Given the description of an element on the screen output the (x, y) to click on. 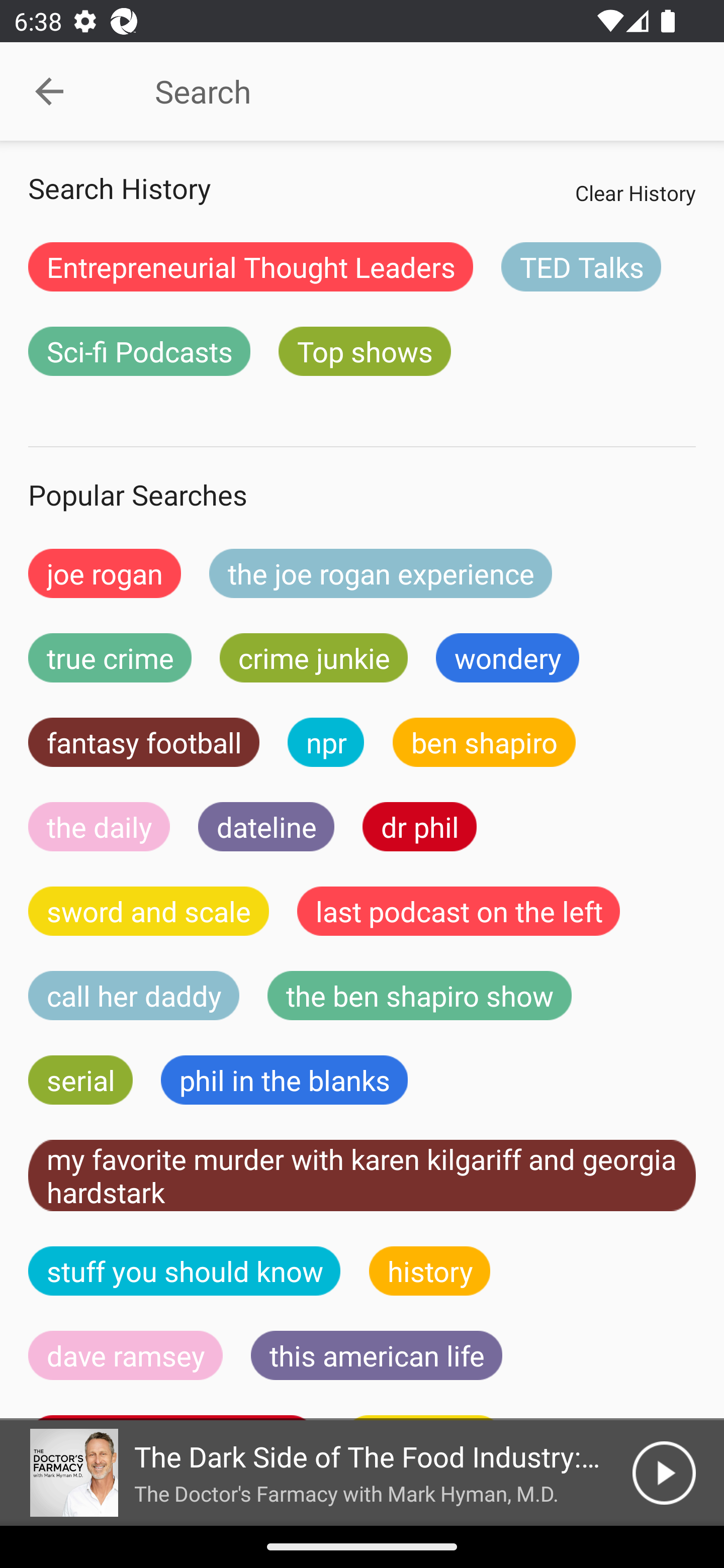
Collapse (49, 91)
Search (407, 91)
Clear History (634, 192)
Entrepreneurial Thought Leaders (250, 266)
TED Talks (581, 266)
Sci-fi Podcasts (139, 351)
Top shows (364, 351)
joe rogan (104, 572)
the joe rogan experience (380, 572)
true crime (109, 657)
crime junkie (313, 657)
wondery (507, 657)
fantasy football (143, 742)
npr (325, 742)
ben shapiro (483, 742)
the daily (99, 826)
dateline (266, 826)
dr phil (419, 826)
sword and scale (148, 910)
last podcast on the left (458, 910)
call her daddy (133, 995)
the ben shapiro show (419, 995)
serial (80, 1079)
phil in the blanks (283, 1079)
stuff you should know (184, 1270)
history (429, 1270)
dave ramsey (125, 1355)
this american life (376, 1355)
Play (663, 1472)
